Given the description of an element on the screen output the (x, y) to click on. 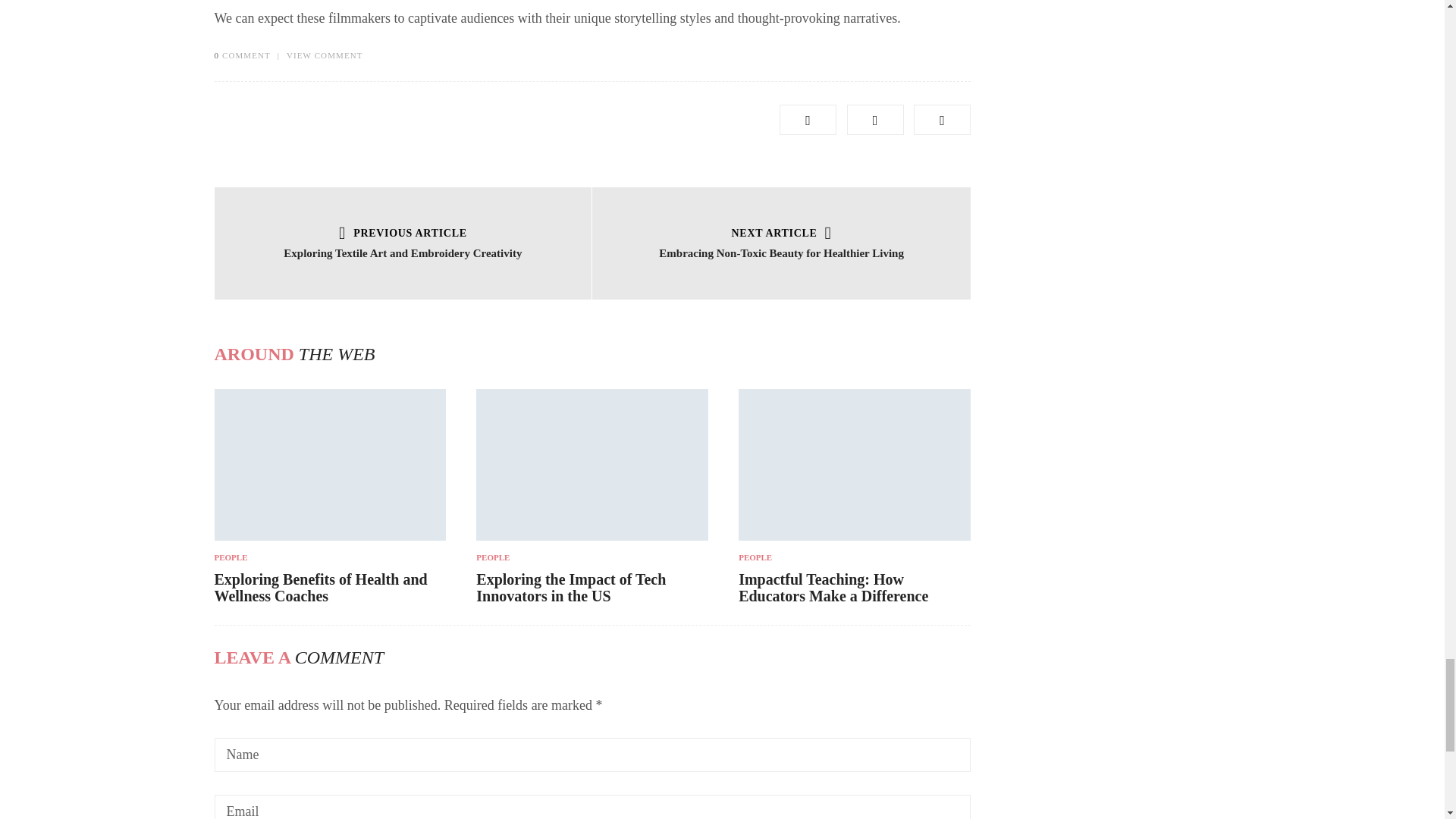
Exploring Benefits of Health and Wellness Coaches (320, 587)
NEXT ARTICLE (781, 233)
Embracing Non-Toxic Beauty for Healthier Living (781, 253)
VIEW COMMENT (324, 54)
Exploring Textile Art and Embroidery Creativity (402, 253)
PREVIOUS ARTICLE (403, 233)
PEOPLE (329, 557)
